Given the description of an element on the screen output the (x, y) to click on. 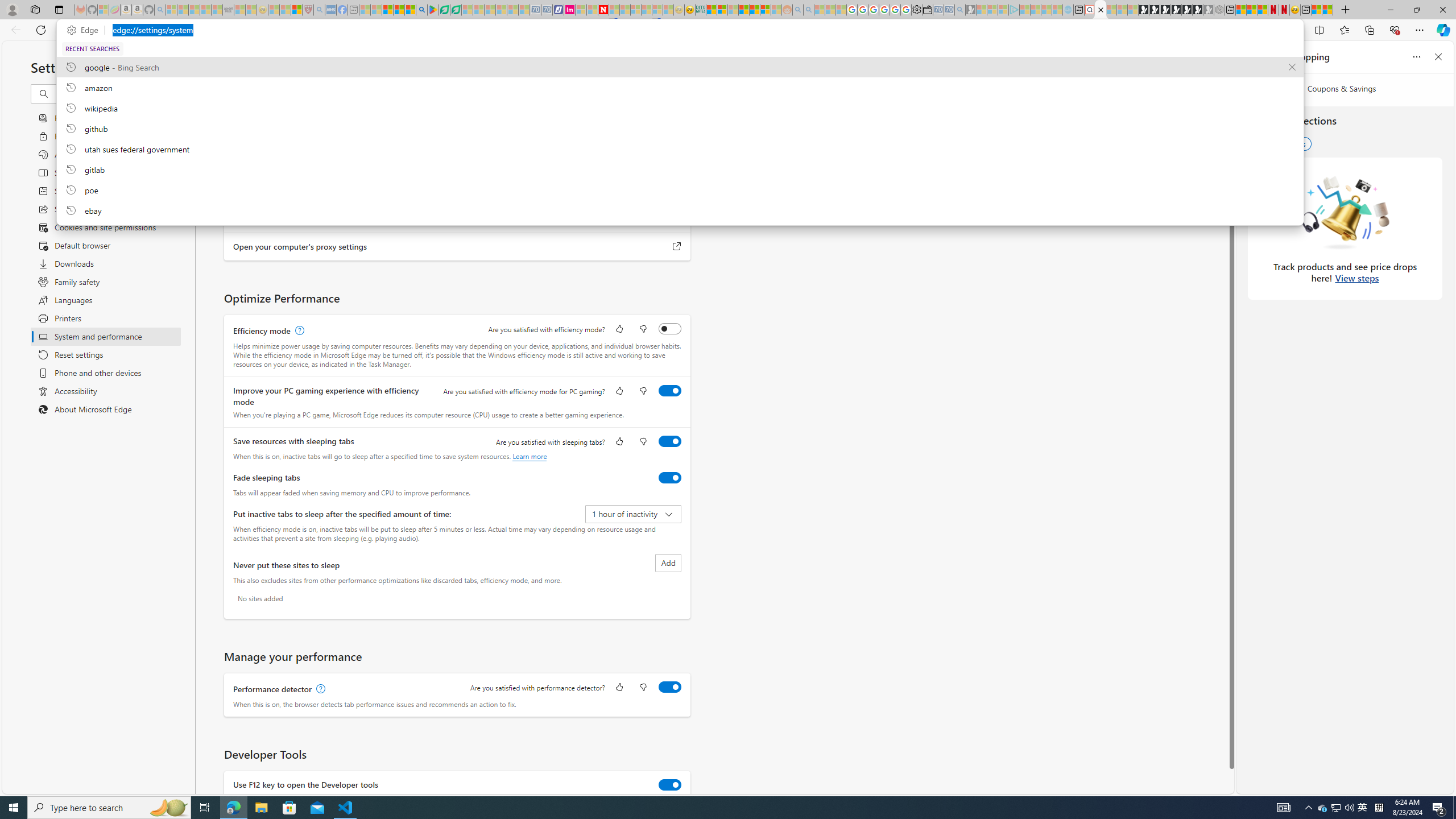
Search settings (117, 93)
Learn more (529, 456)
Local - MSN (296, 9)
Efficiency mode, learn more (298, 330)
Performance detector, learn more (319, 688)
Use graphics acceleration when available (669, 167)
